Given the description of an element on the screen output the (x, y) to click on. 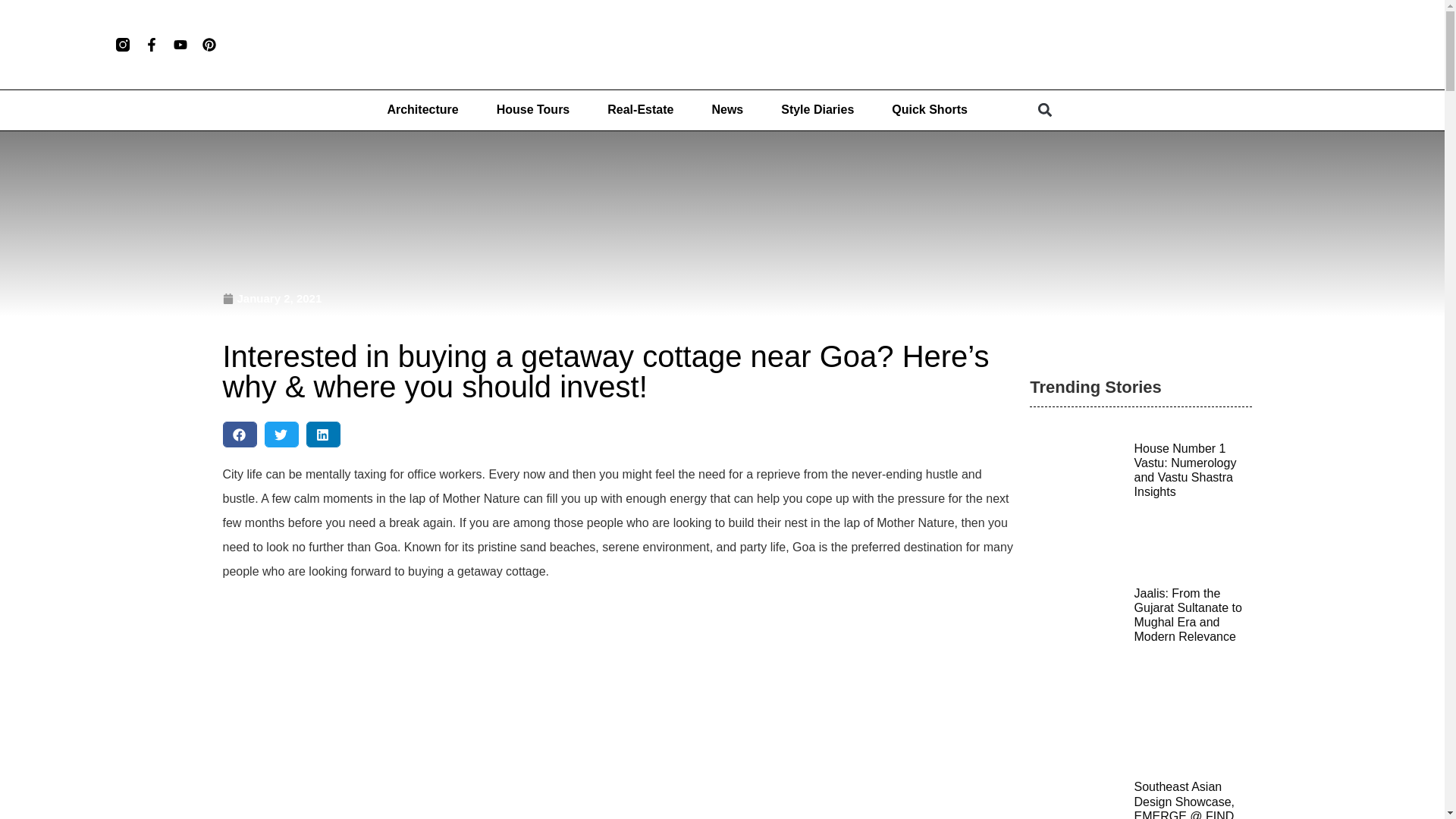
Real-Estate (639, 109)
News (726, 109)
Architecture (422, 109)
House Number 1 Vastu: Numerology and Vastu Shastra Insights (1185, 470)
Quick Shorts (929, 109)
Style Diaries (816, 109)
House Tours (533, 109)
January 2, 2021 (271, 298)
